Given the description of an element on the screen output the (x, y) to click on. 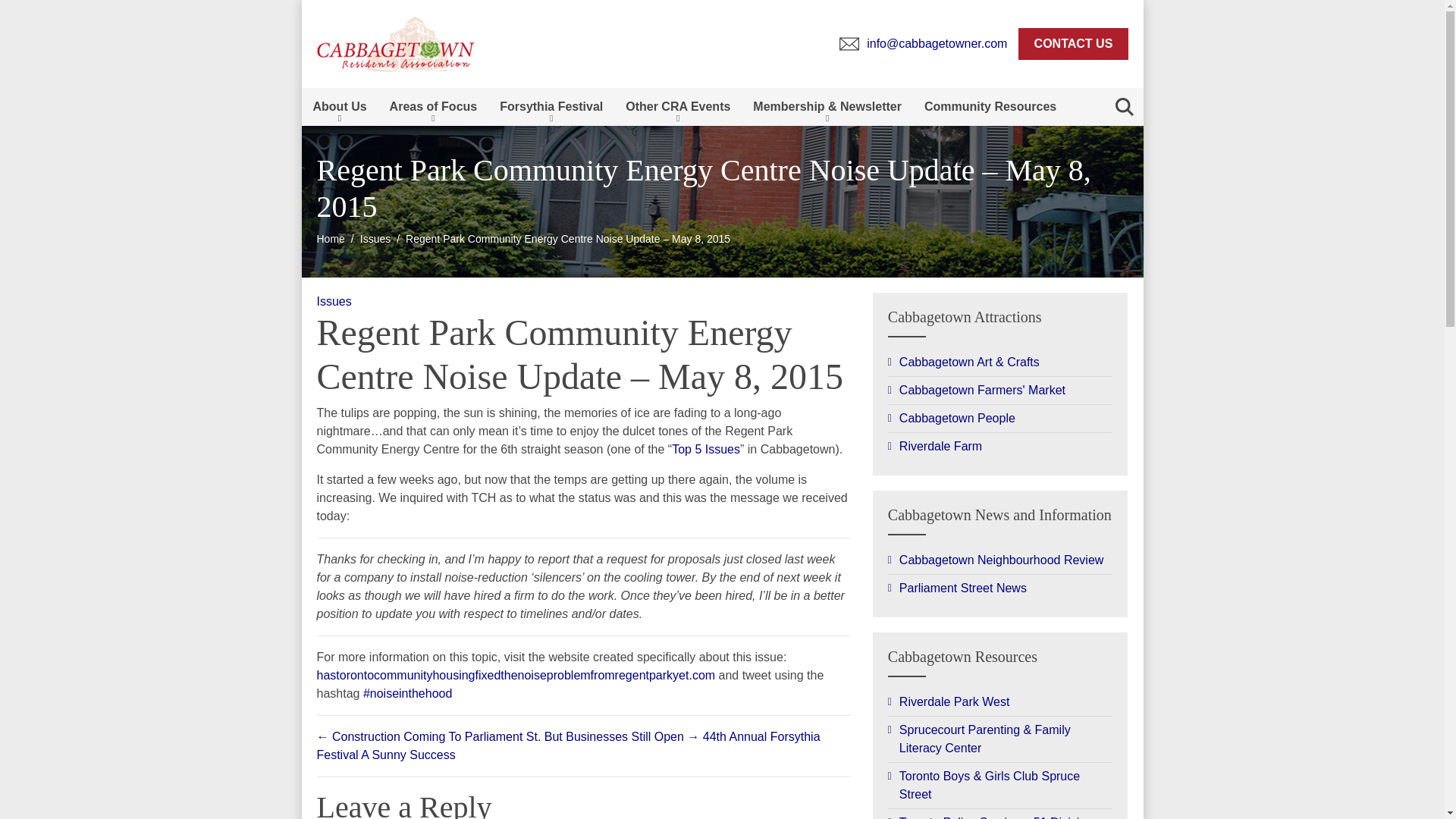
CONTACT US (1071, 43)
Areas of Focus (433, 106)
Other CRA Events (677, 106)
About Us (339, 106)
Issues (334, 300)
Forsythia Festival (550, 106)
Community Resources (989, 106)
Search (1123, 106)
Top 5 Issues (705, 449)
